Given the description of an element on the screen output the (x, y) to click on. 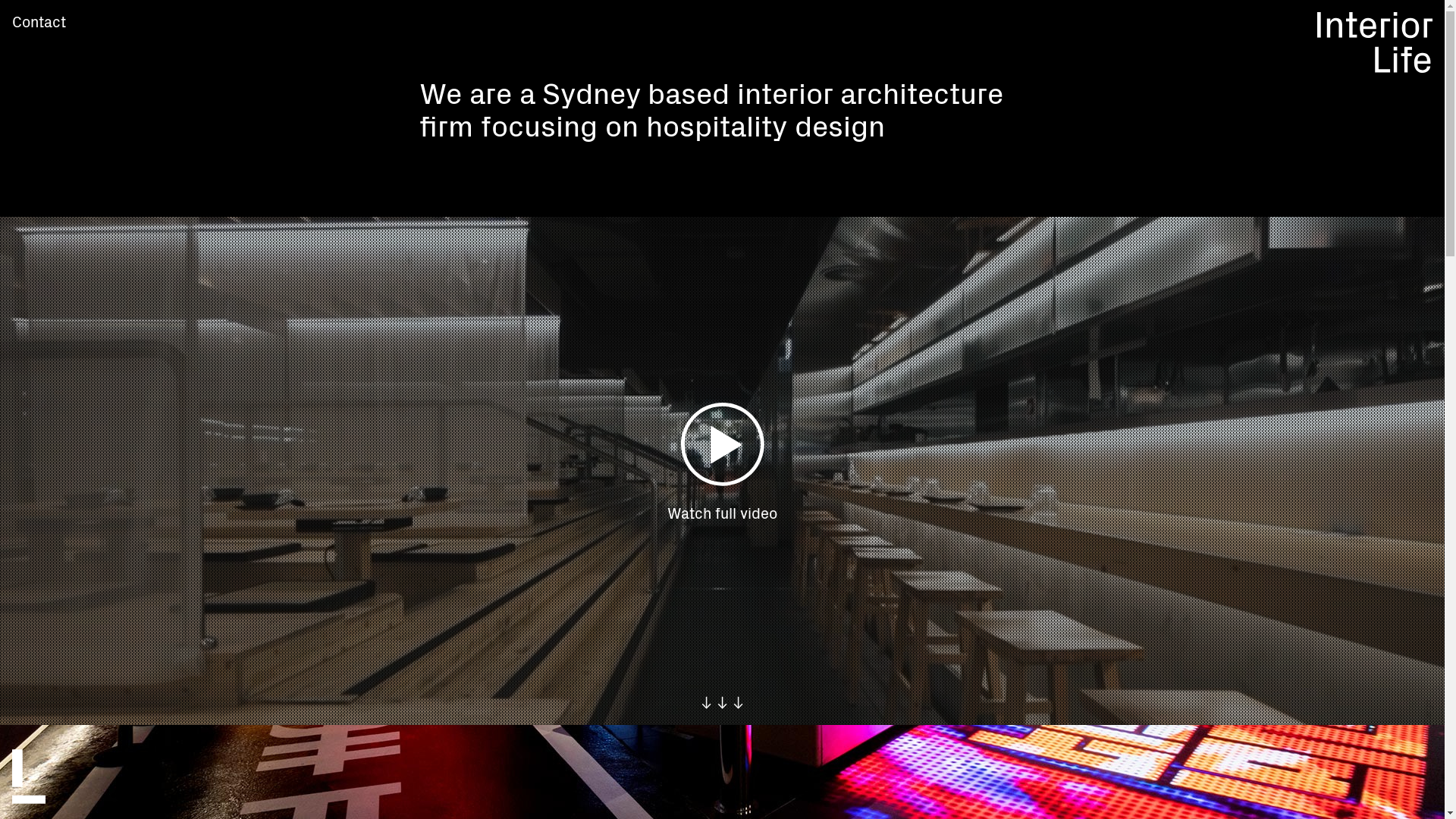
Contact Element type: text (38, 21)
InteriorLife-logo Element type: text (1375, 66)
IL-logo Element type: text (28, 797)
